Given the description of an element on the screen output the (x, y) to click on. 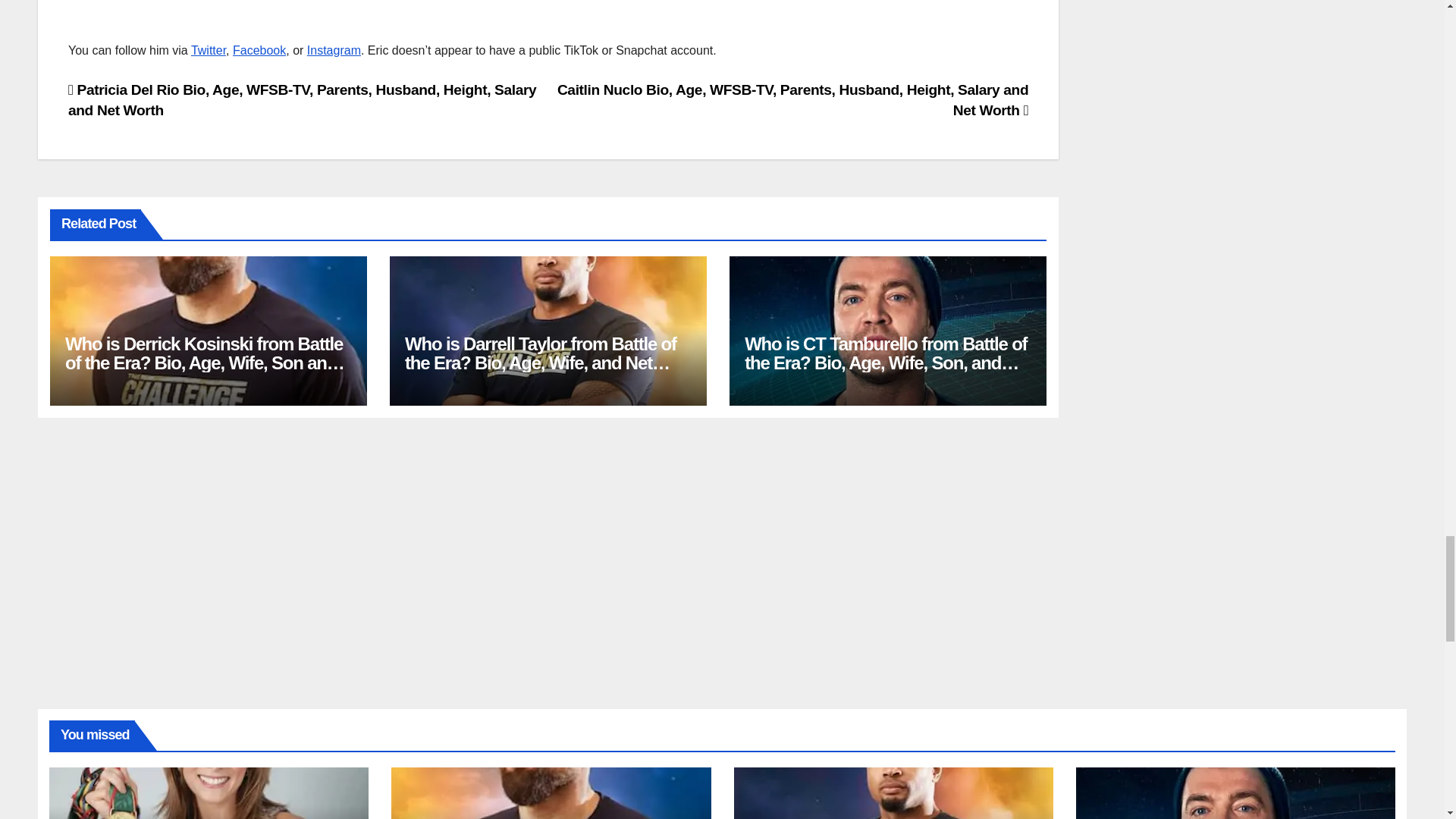
Advertisement (1243, 12)
Advertisement (548, 20)
Facebook (258, 50)
Instagram (334, 50)
